Given the description of an element on the screen output the (x, y) to click on. 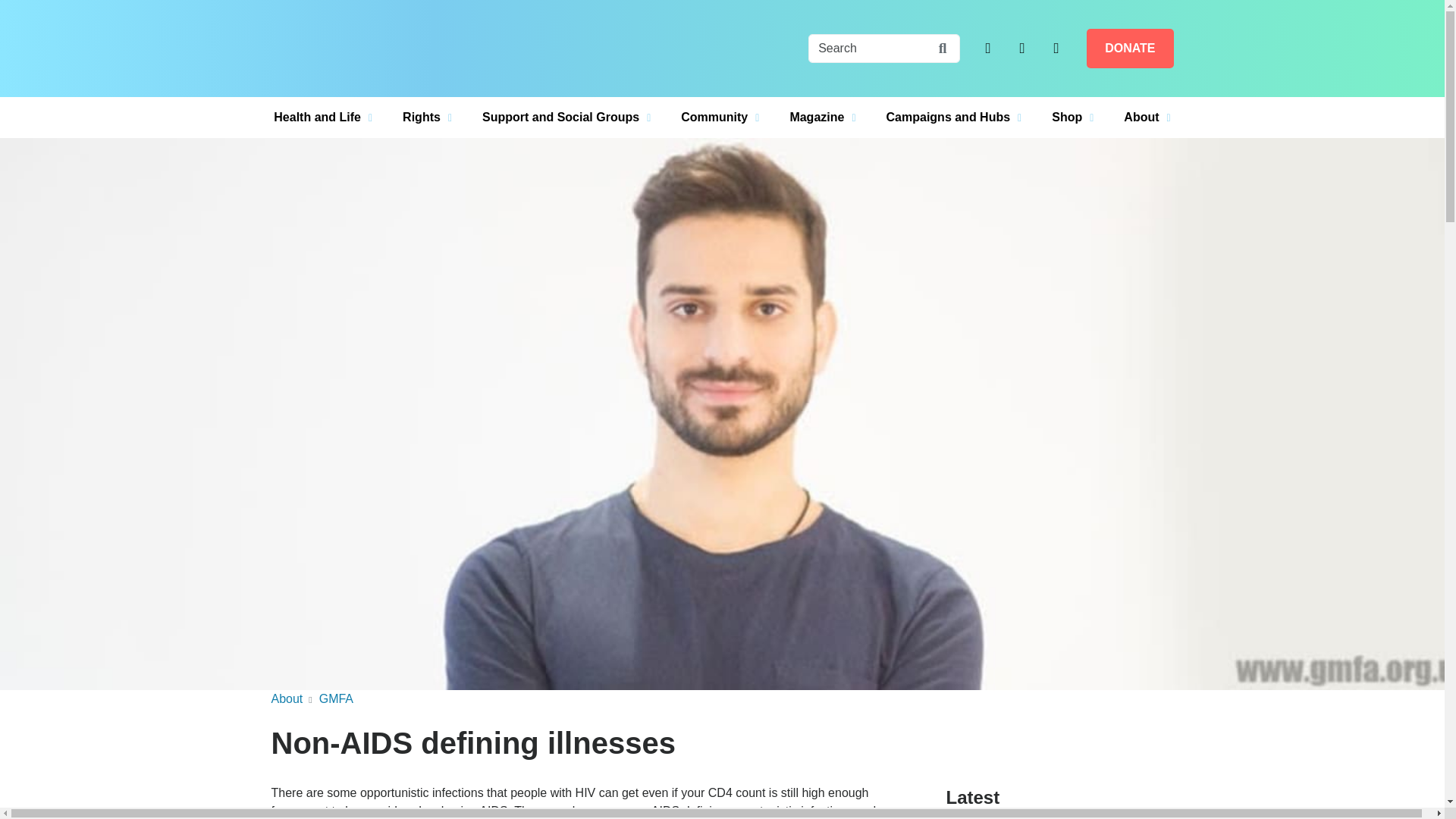
LGBT HERO - the national health and wellbeing charity (365, 48)
Health and Life (323, 117)
DONATE (1129, 47)
Shop drop down menu (1072, 117)
Facebook (1021, 48)
Twitter (987, 48)
Campaigns and Hubs drop down menu (953, 117)
Support and Social Groups drop down menu (566, 117)
Health and Life drop down menu (323, 117)
Magazine drop down menu (822, 117)
